Given the description of an element on the screen output the (x, y) to click on. 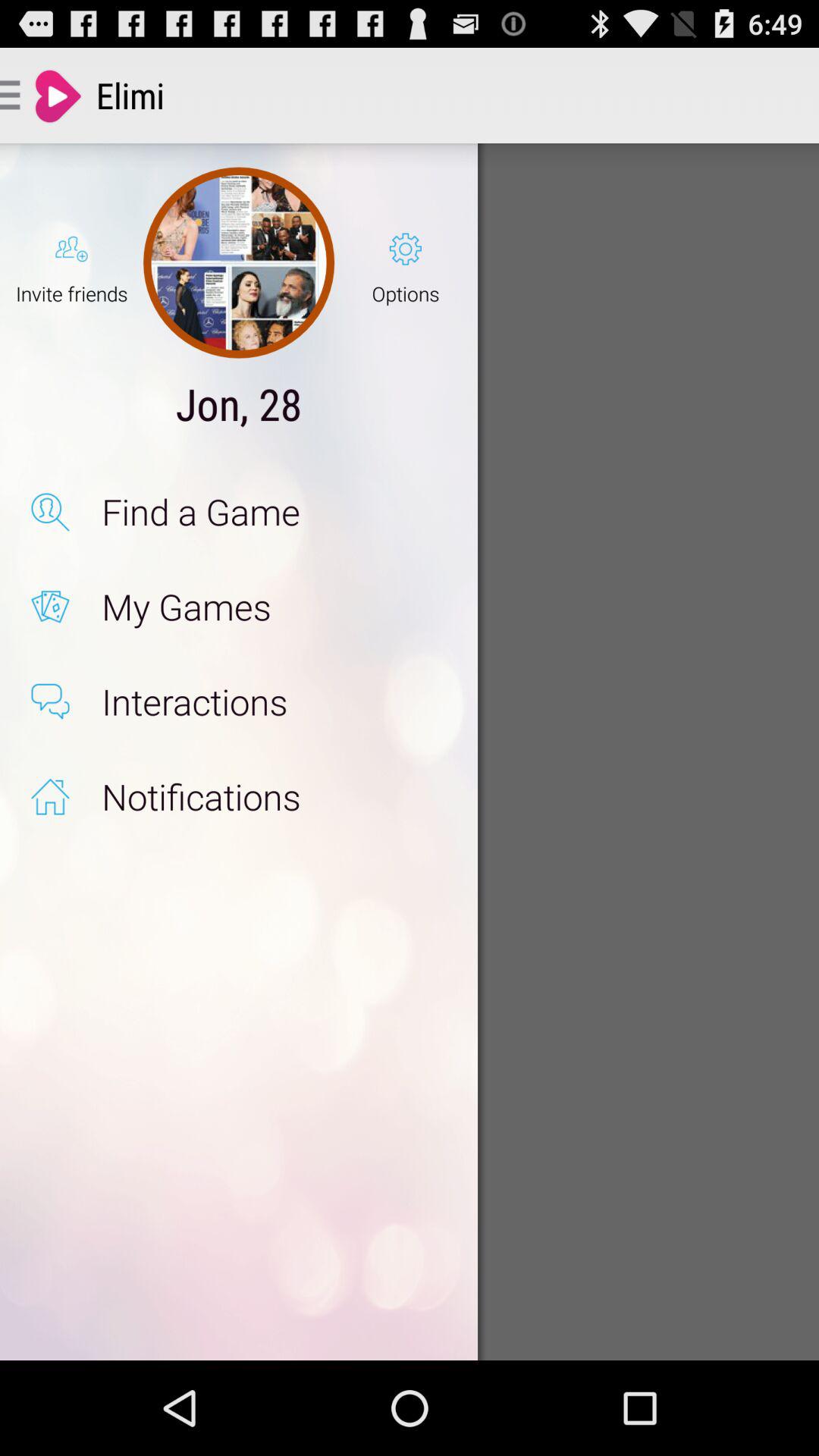
go to your avatar image (238, 262)
